Given the description of an element on the screen output the (x, y) to click on. 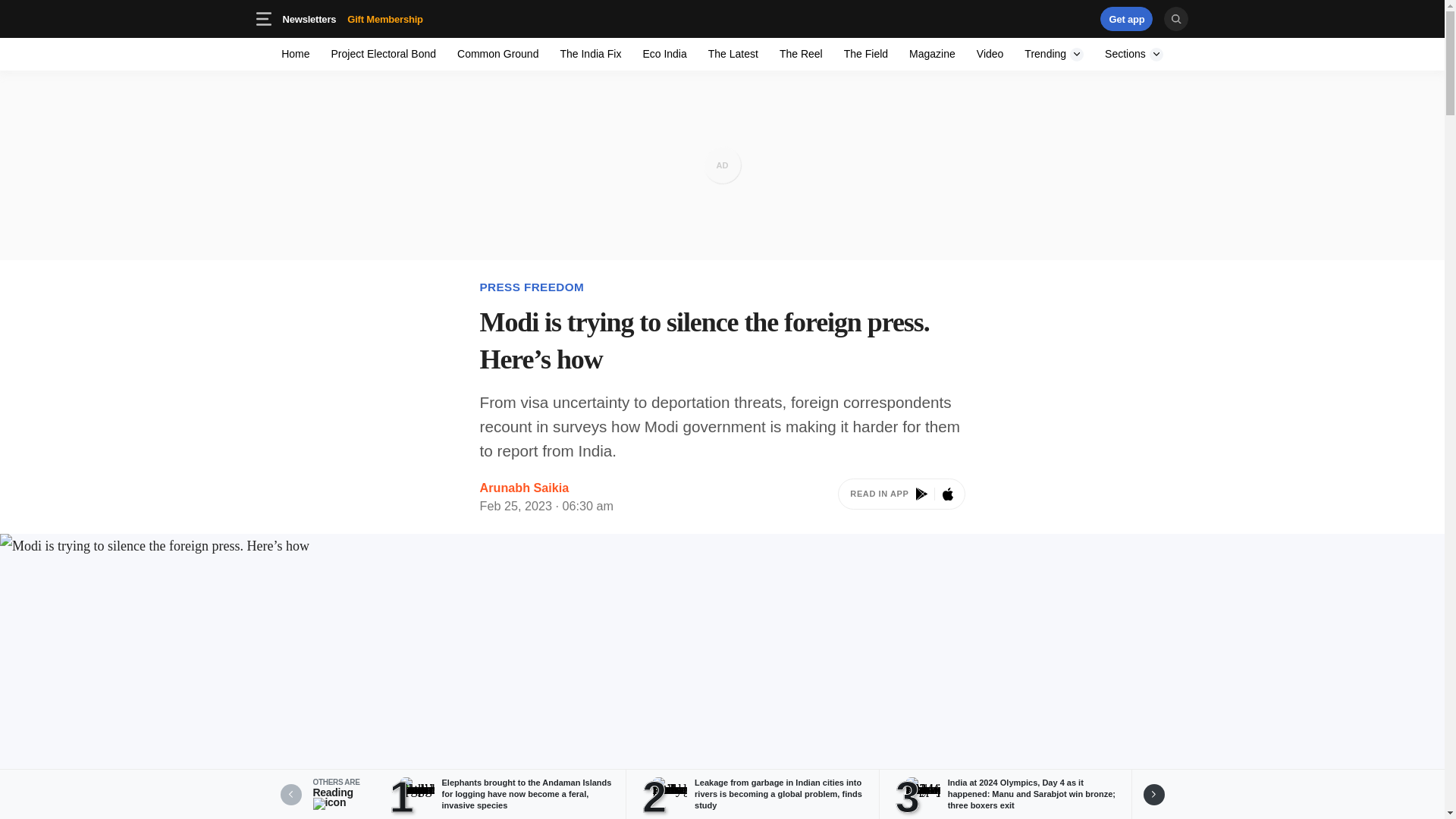
Magazine (931, 53)
The India Fix (590, 53)
Get app (1126, 18)
The Reel (800, 53)
Get app (1126, 18)
Get app (1035, 18)
Sections (1134, 53)
Trending (721, 18)
READ IN APP (409, 18)
Common Ground (1053, 53)
The Field (900, 496)
Project Electoral Bond (497, 53)
Home (865, 53)
